Given the description of an element on the screen output the (x, y) to click on. 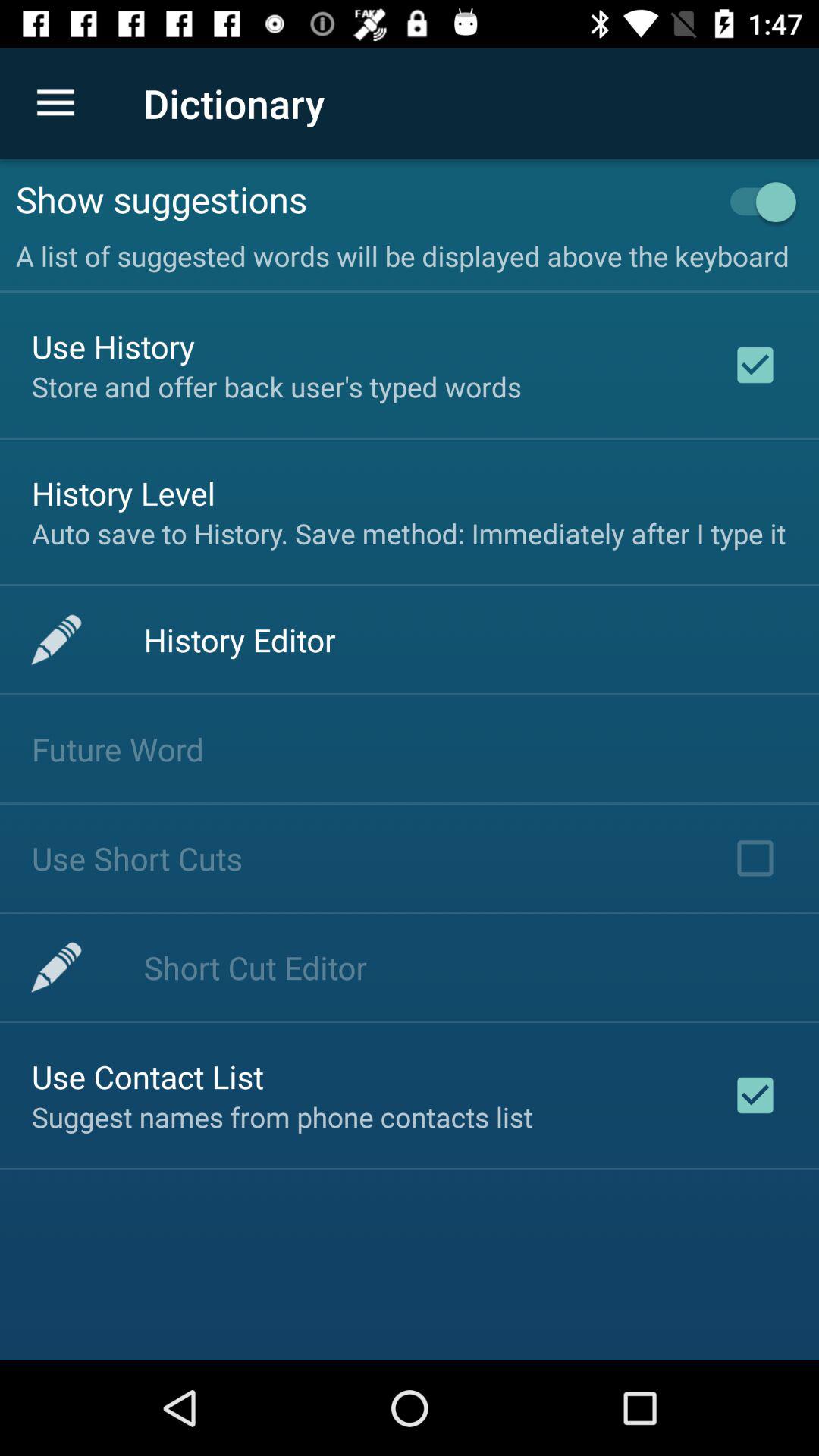
tap the a list of item (409, 251)
